Given the description of an element on the screen output the (x, y) to click on. 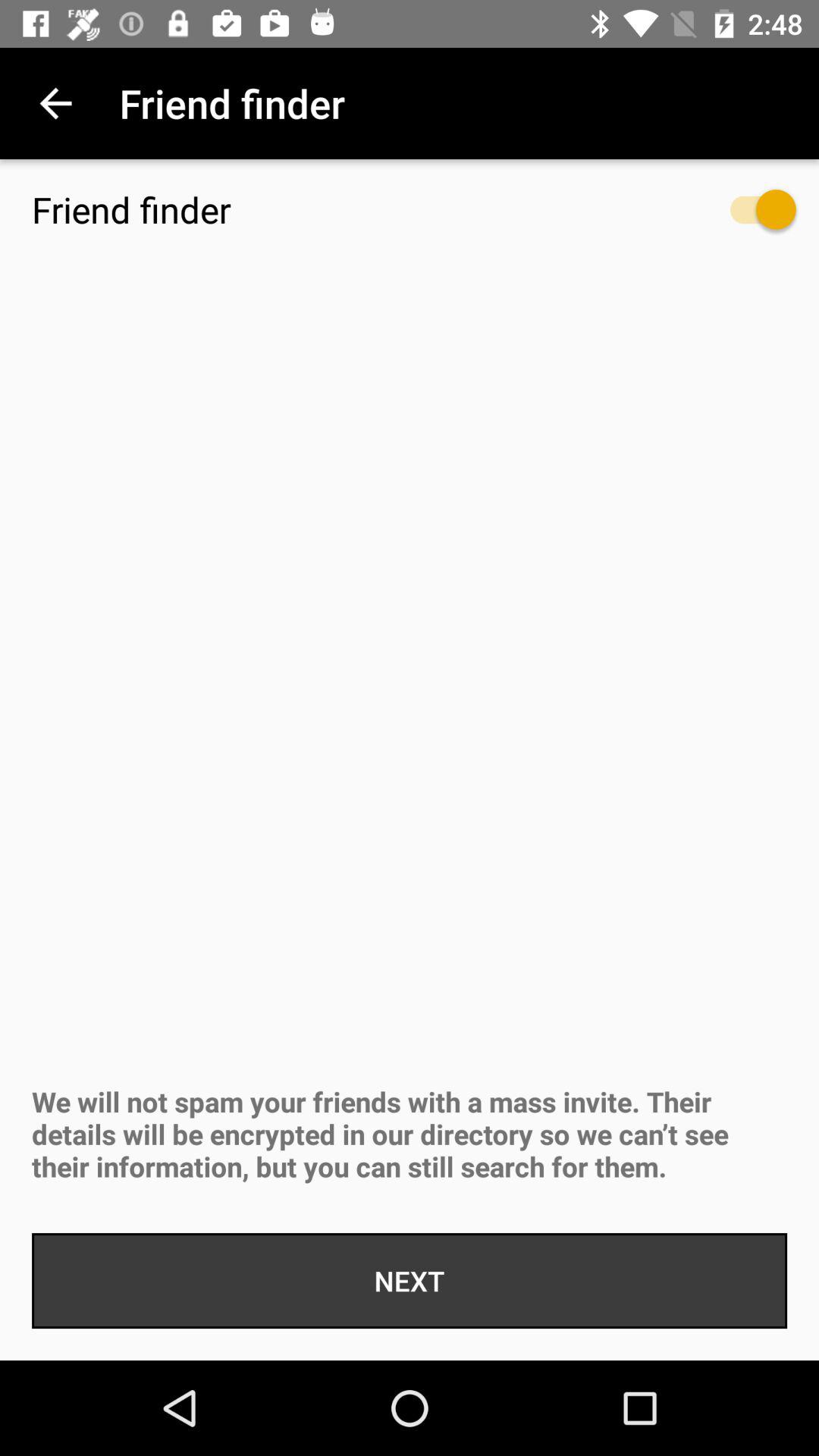
press next item (409, 1280)
